Given the description of an element on the screen output the (x, y) to click on. 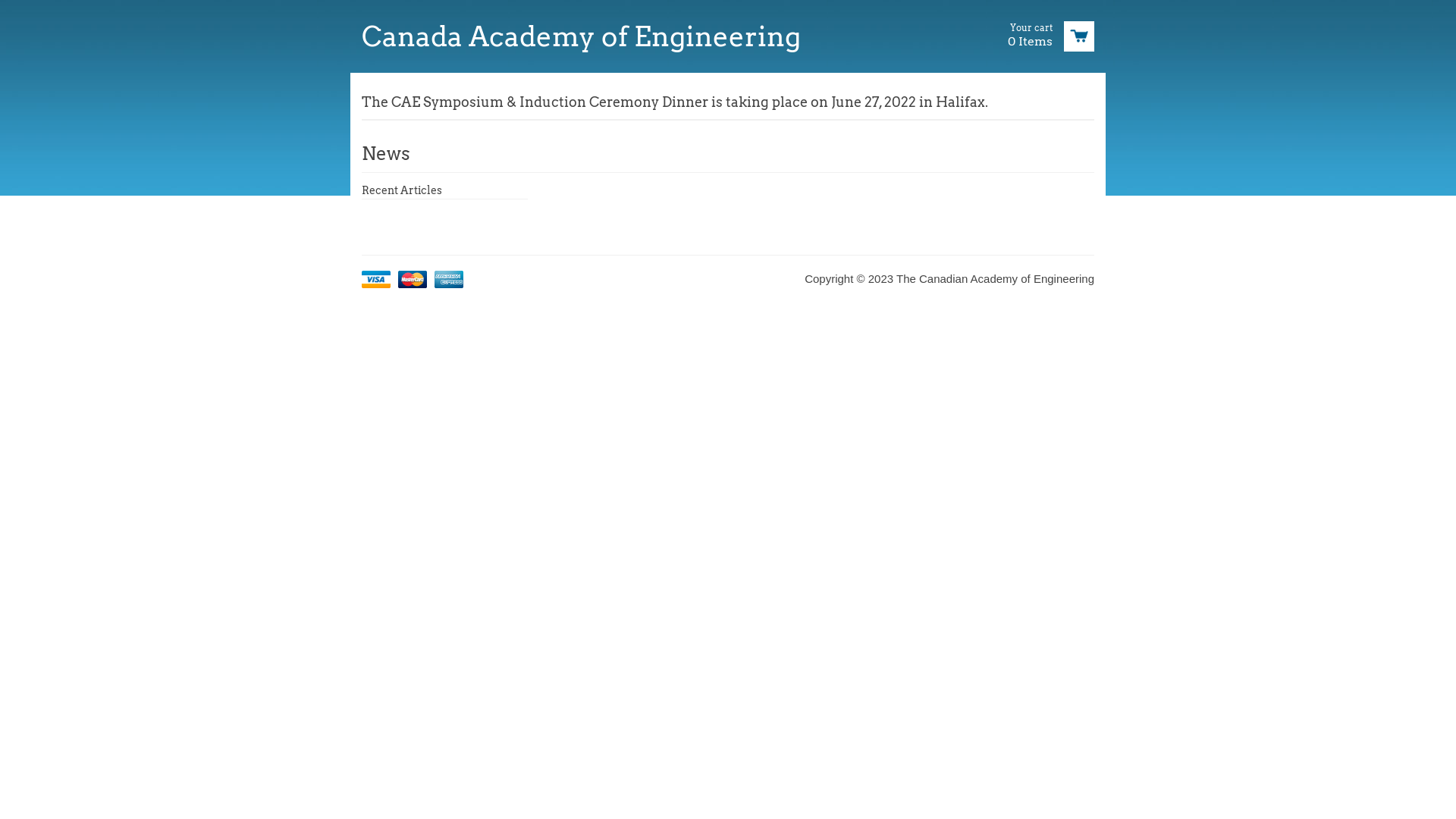
View cart
Your cart
0 Items Element type: text (1045, 36)
Canada Academy of Engineering Element type: text (727, 36)
